Given the description of an element on the screen output the (x, y) to click on. 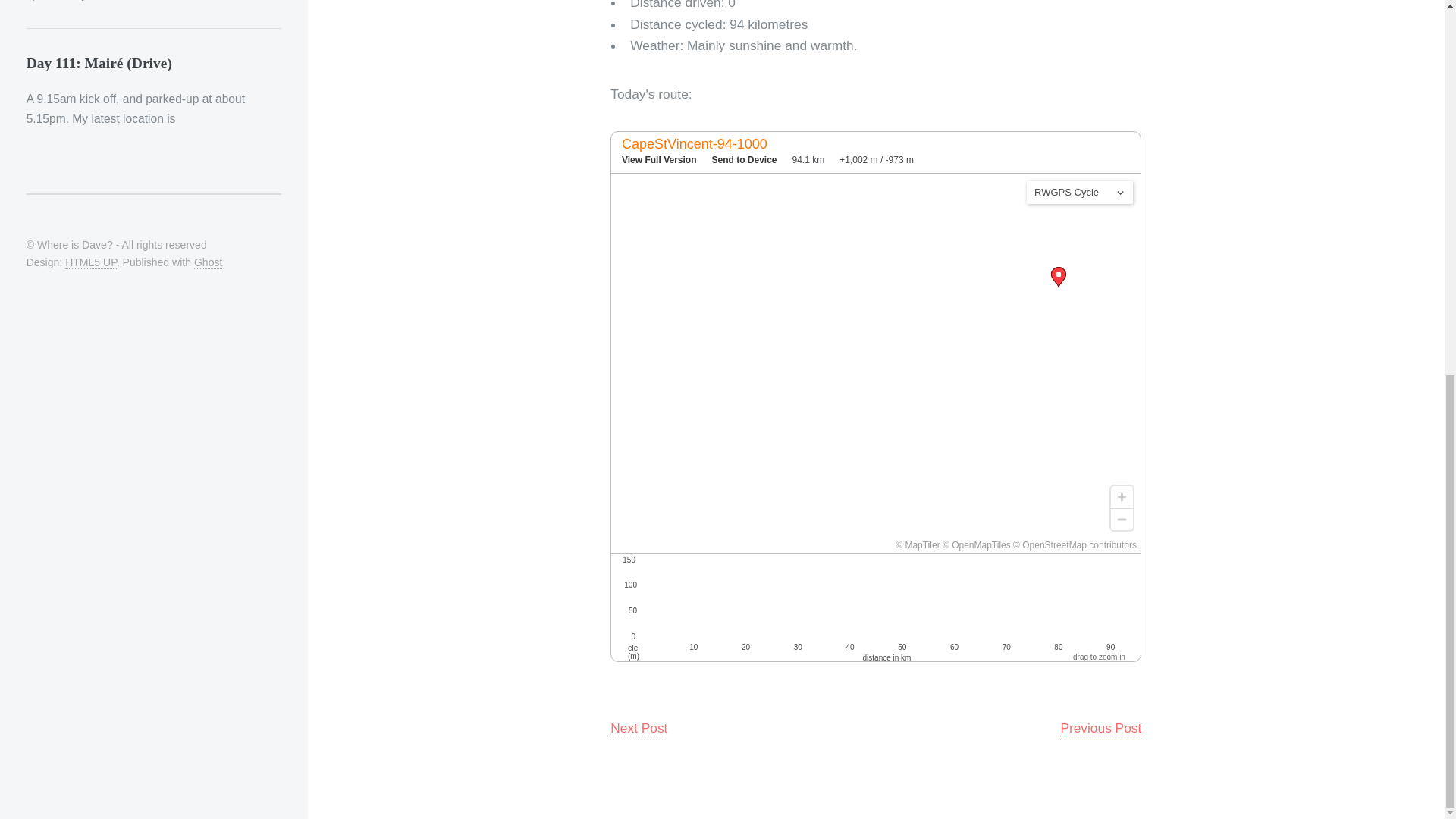
Ghost (207, 262)
Previous Post (1100, 728)
HTML5 UP (90, 262)
Next Post (638, 728)
